Given the description of an element on the screen output the (x, y) to click on. 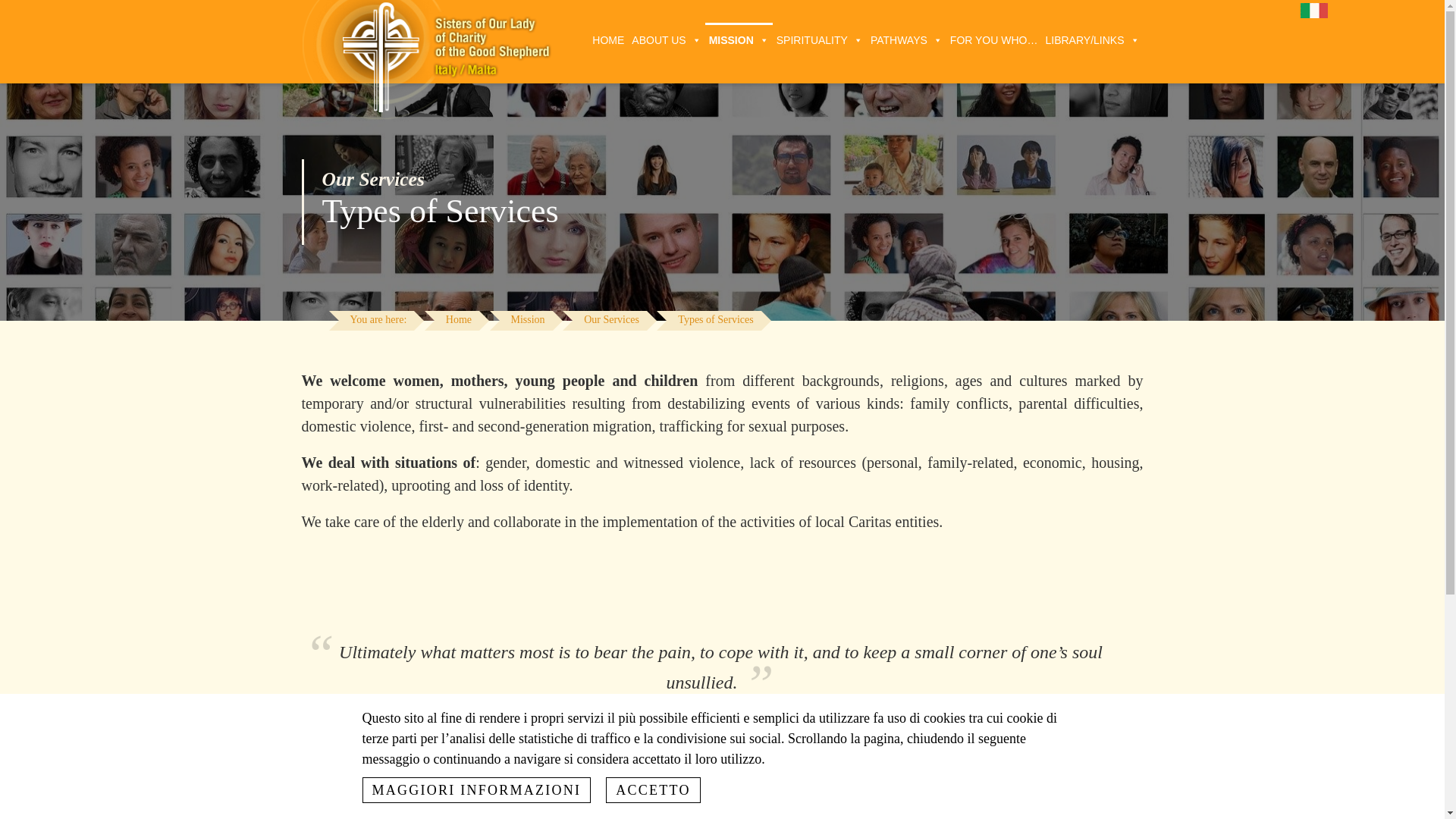
Our Services (611, 320)
Mission (528, 320)
SPIRITUALITY (819, 37)
Types of Services (714, 320)
You are here: (378, 320)
ABOUT US (665, 37)
MISSION (738, 37)
Home (458, 320)
HOME (607, 37)
